Given the description of an element on the screen output the (x, y) to click on. 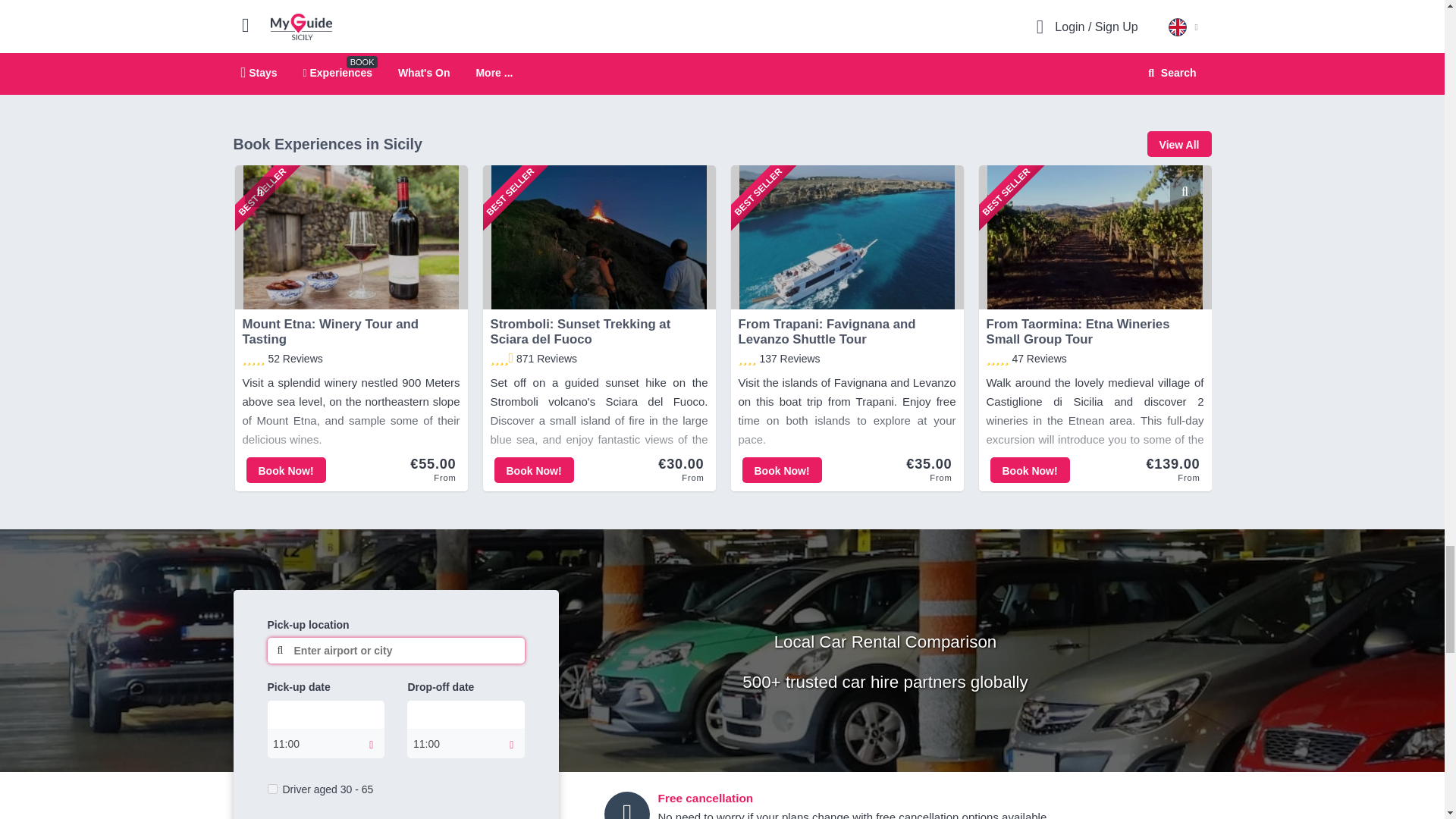
on (271, 788)
Mount Etna by Dr. Boris Behncke (567, 41)
Etna flora by Luigi Strano (746, 41)
